Given the description of an element on the screen output the (x, y) to click on. 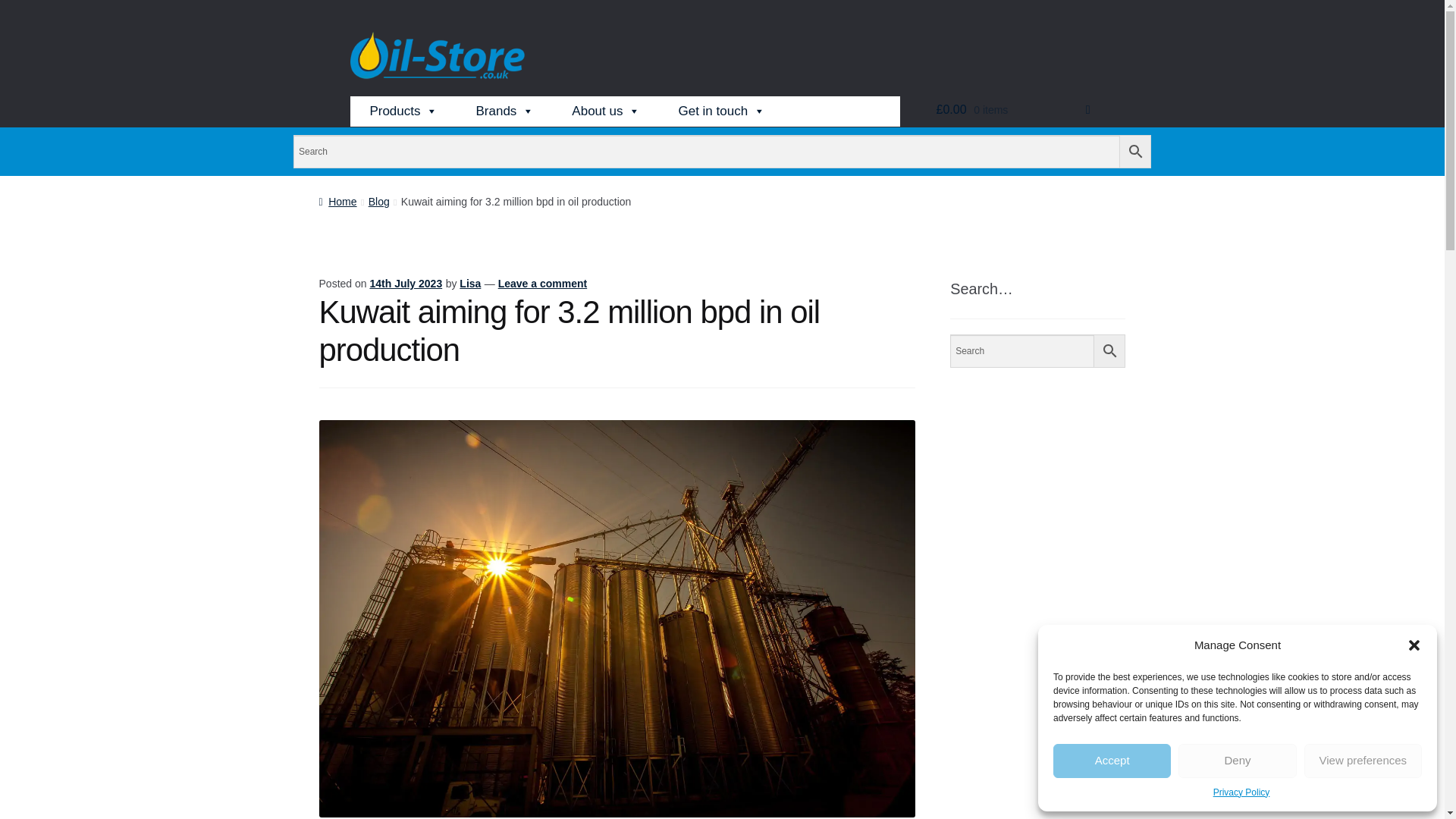
View preferences (1363, 760)
Privacy Policy (1240, 792)
Products (403, 111)
Deny (1236, 760)
View your shopping basket (1013, 109)
Accept (1111, 760)
